Given the description of an element on the screen output the (x, y) to click on. 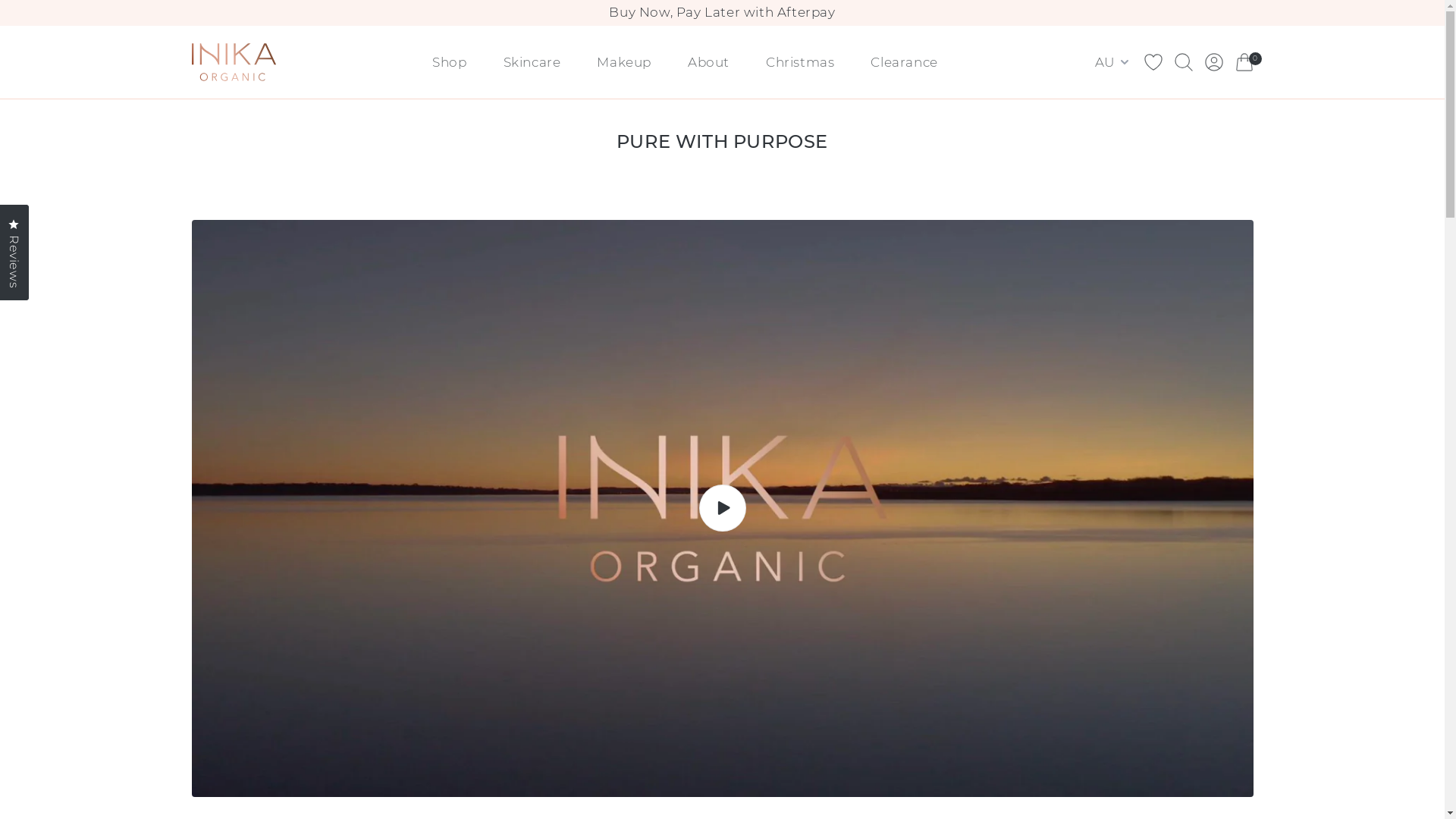
Account Icon Element type: text (1213, 62)
Skincare Element type: text (532, 61)
Christmas Element type: text (799, 61)
Shop Element type: text (449, 61)
Wishlist Icon Element type: text (1152, 62)
Brand Logo (Link to home) Element type: text (233, 61)
Clearance Element type: text (903, 61)
AU Element type: text (1113, 61)
Cart Icon
0
0 items Element type: text (1243, 62)
Makeup Element type: text (623, 61)
About Element type: text (708, 61)
Search Icon Element type: text (1182, 62)
